Given the description of an element on the screen output the (x, y) to click on. 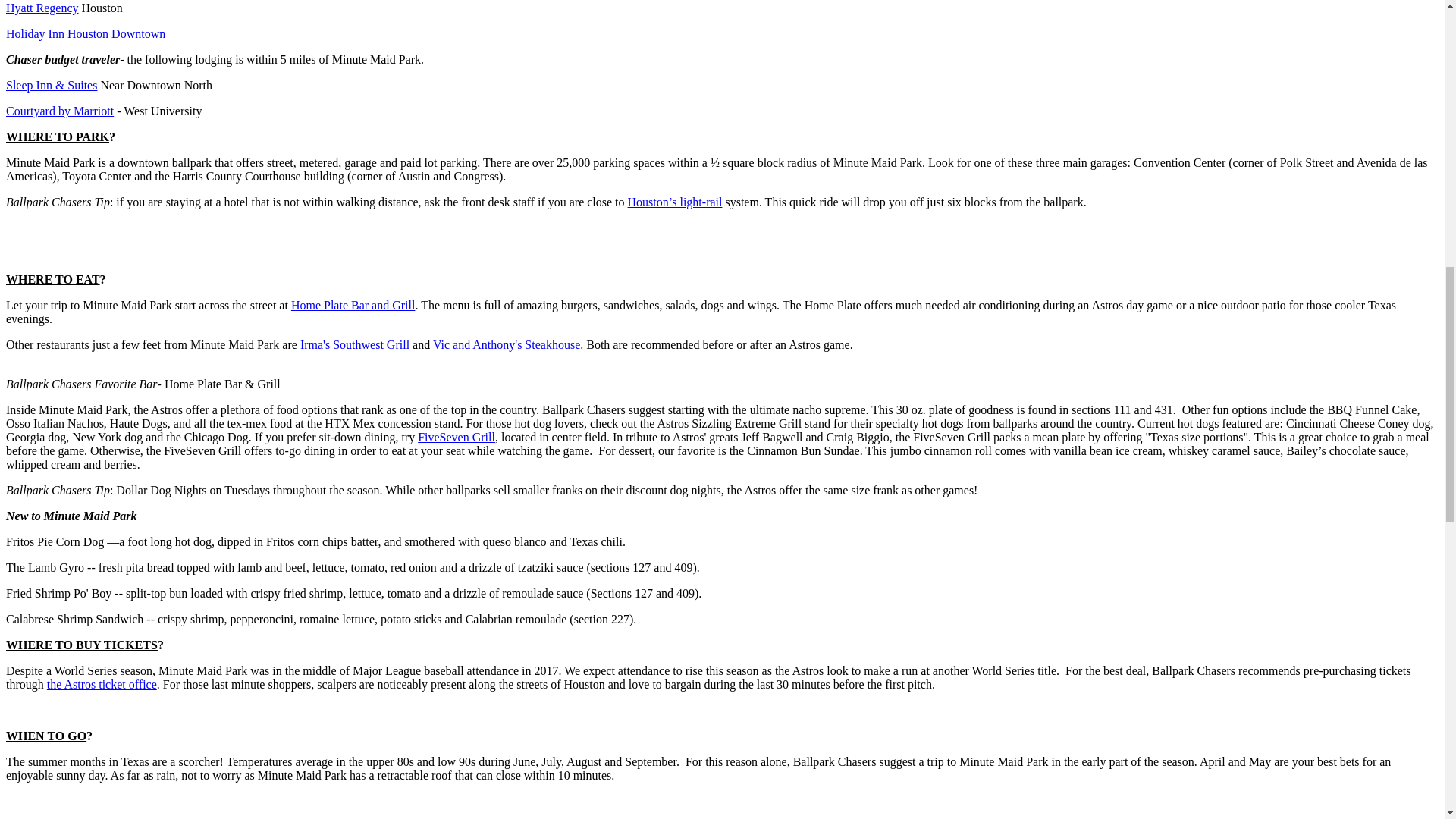
Courtyard by Marriott (59, 110)
Hyatt Regency (41, 7)
Holiday Inn Houston Downtown (85, 33)
